Given the description of an element on the screen output the (x, y) to click on. 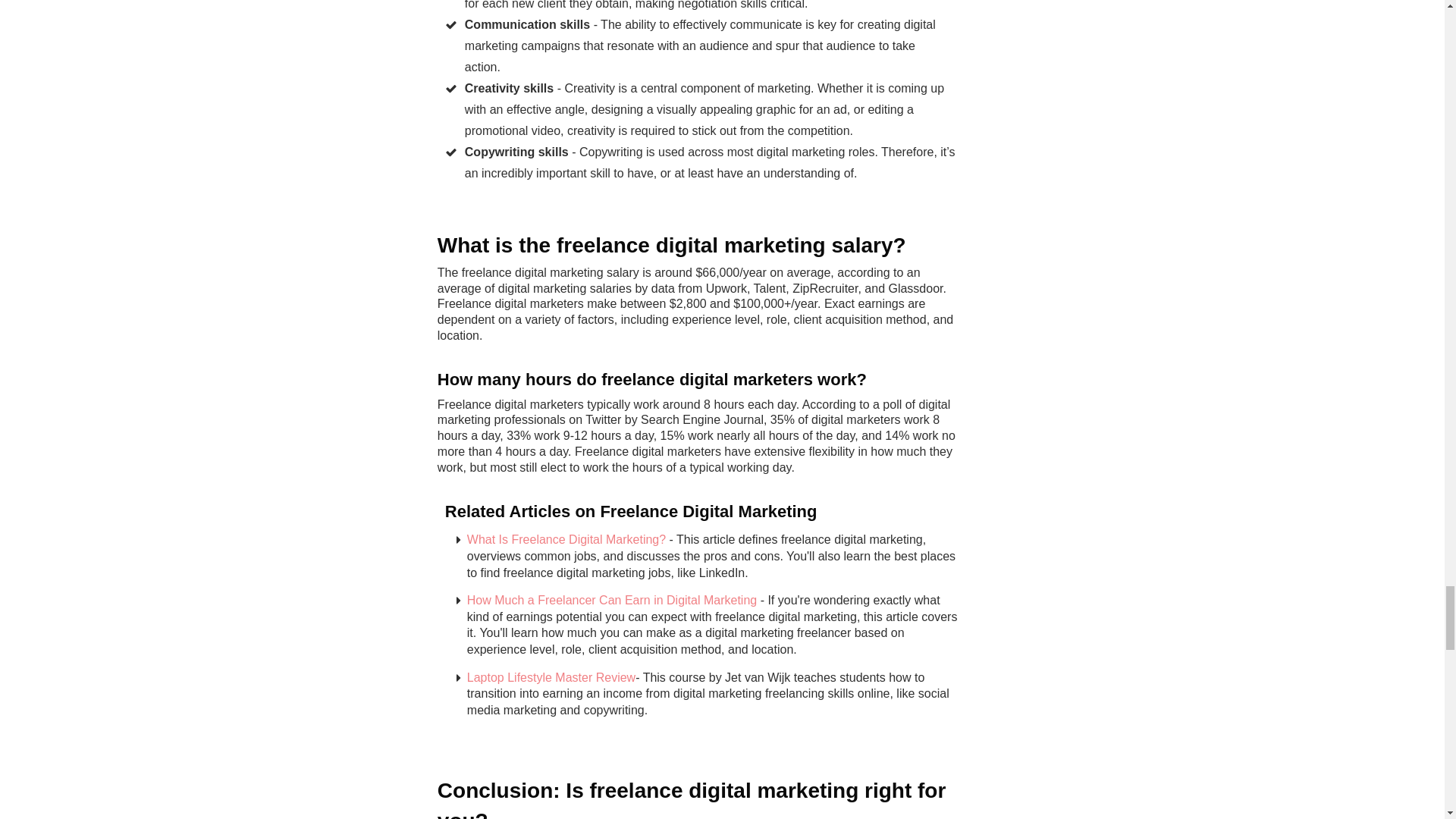
What Is Freelance Digital Marketing? (566, 539)
How Much a Freelancer Can Earn in Digital Marketing (612, 599)
Laptop Lifestyle Master Review (550, 676)
